Given the description of an element on the screen output the (x, y) to click on. 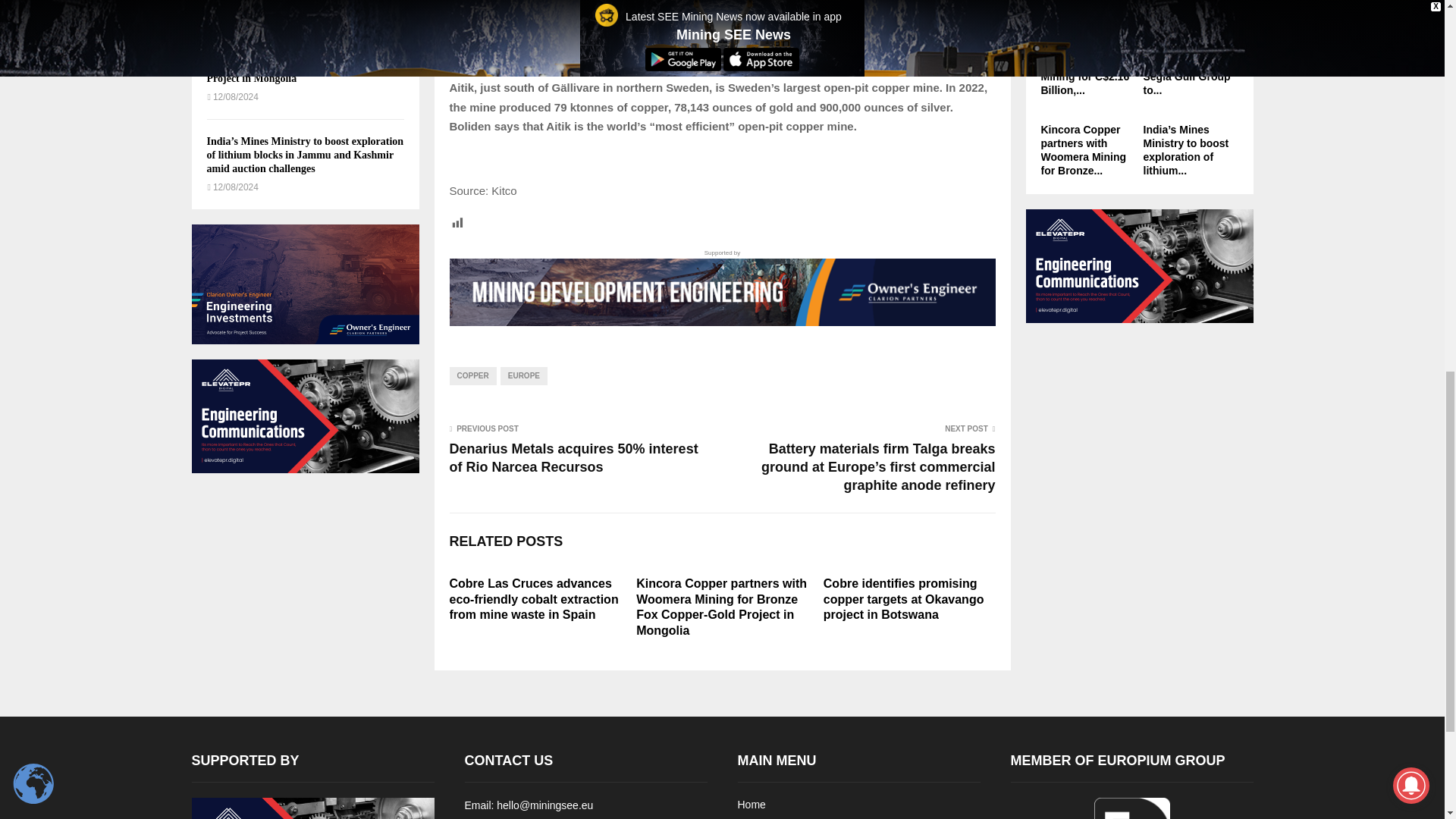
EUROPE (523, 375)
COPPER (472, 375)
Supported by (721, 286)
